Given the description of an element on the screen output the (x, y) to click on. 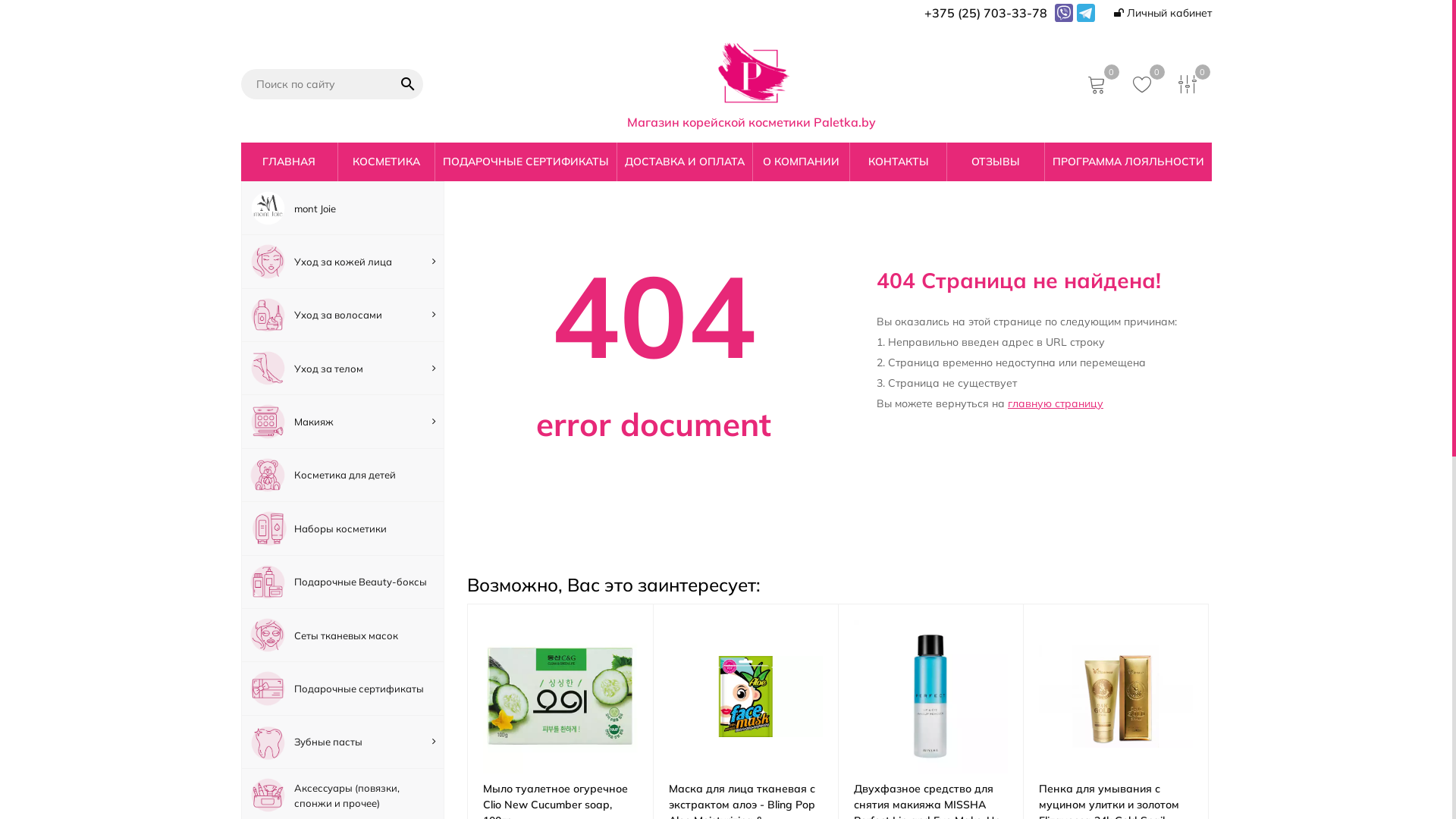
search Element type: text (407, 84)
0 Element type: text (1189, 83)
+375 (25) 703-33-78 Element type: text (984, 12)
mont Joie Element type: text (343, 208)
0 Element type: text (1098, 83)
0 Element type: text (1144, 83)
